Given the description of an element on the screen output the (x, y) to click on. 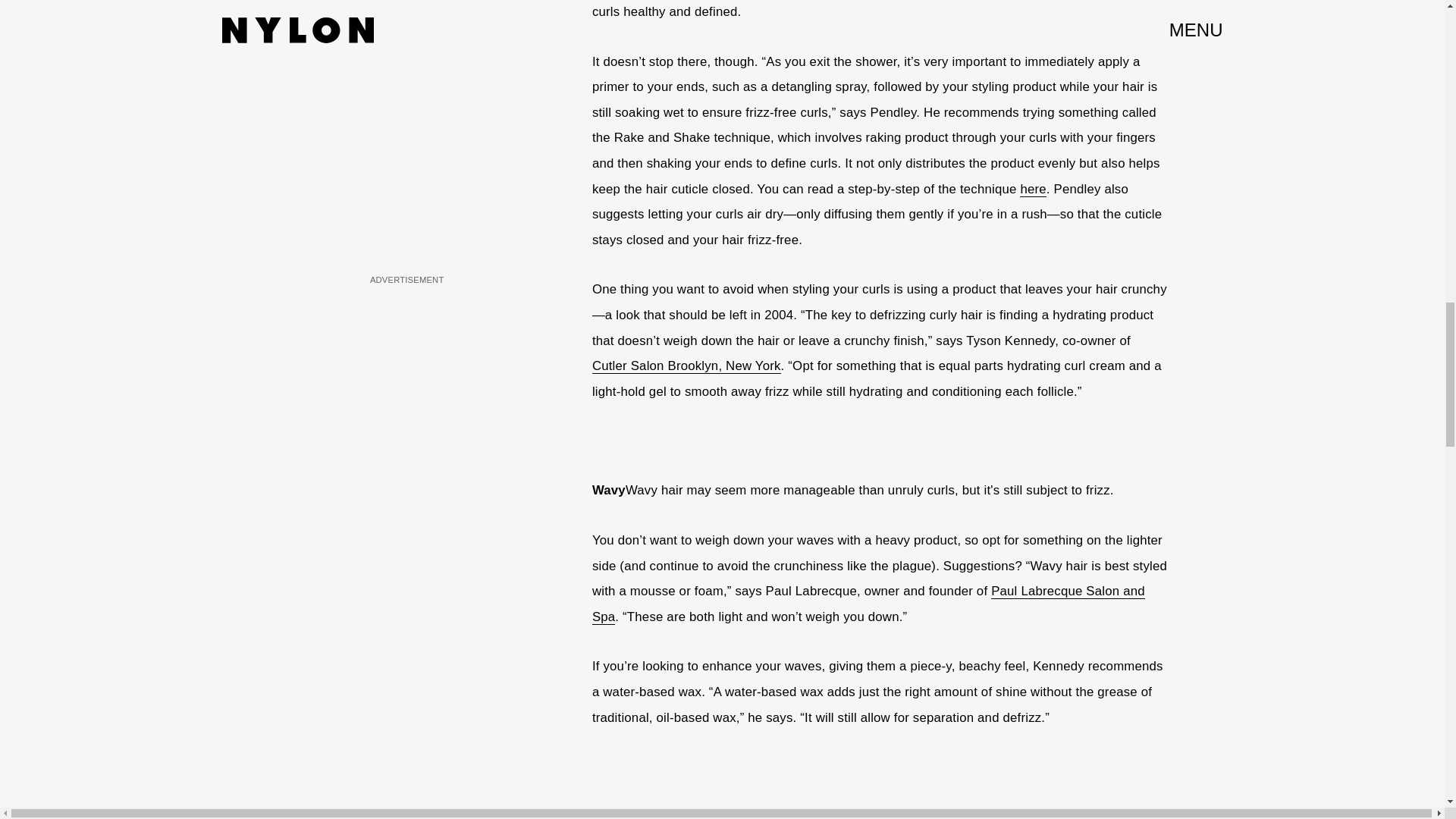
Paul Labrecque Salon and Spa (868, 603)
here (1032, 189)
Cutler Salon Brooklyn, New York (686, 365)
